Given the description of an element on the screen output the (x, y) to click on. 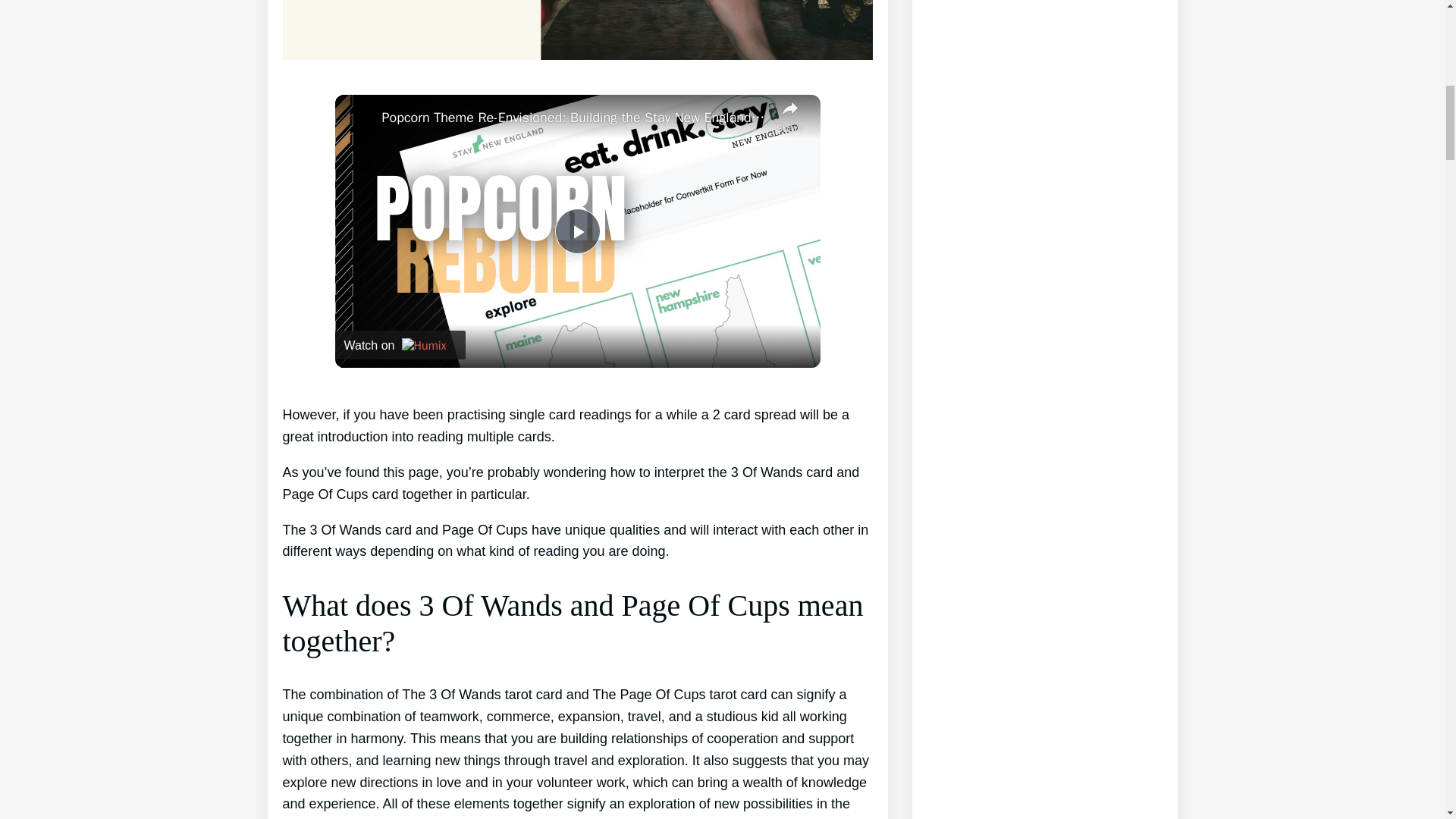
Watch on (399, 344)
Play Video (576, 230)
Play Video (576, 230)
